Given the description of an element on the screen output the (x, y) to click on. 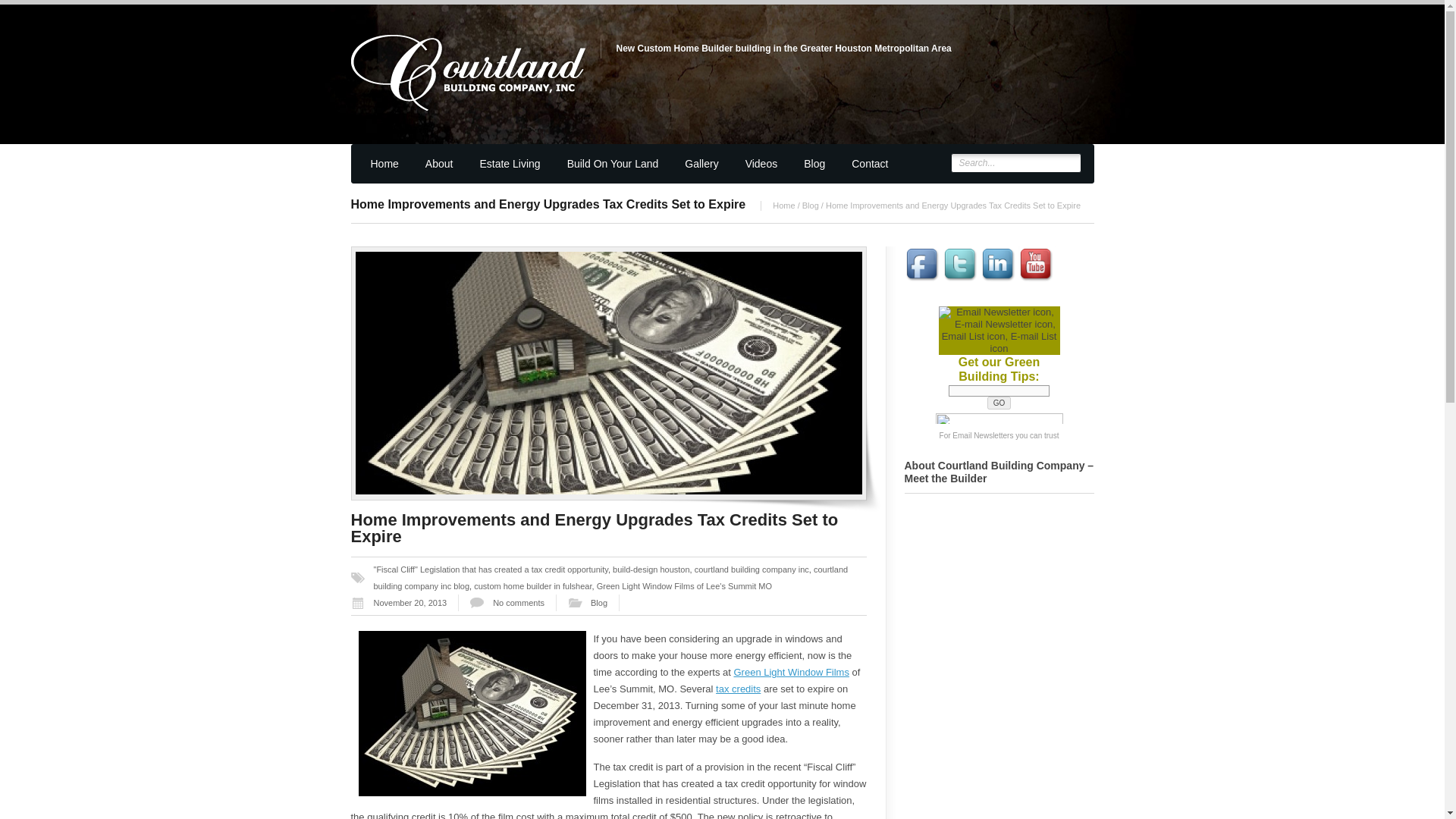
custom home builder in fulshear (532, 585)
Gallery (699, 169)
Contact (867, 169)
Blog (812, 169)
Estate Living (507, 169)
Green Light Window Films of Lee's Summit MO (683, 585)
GO (999, 402)
twitter (960, 265)
courtland building company inc blog (609, 577)
Search... (1015, 162)
